Given the description of an element on the screen output the (x, y) to click on. 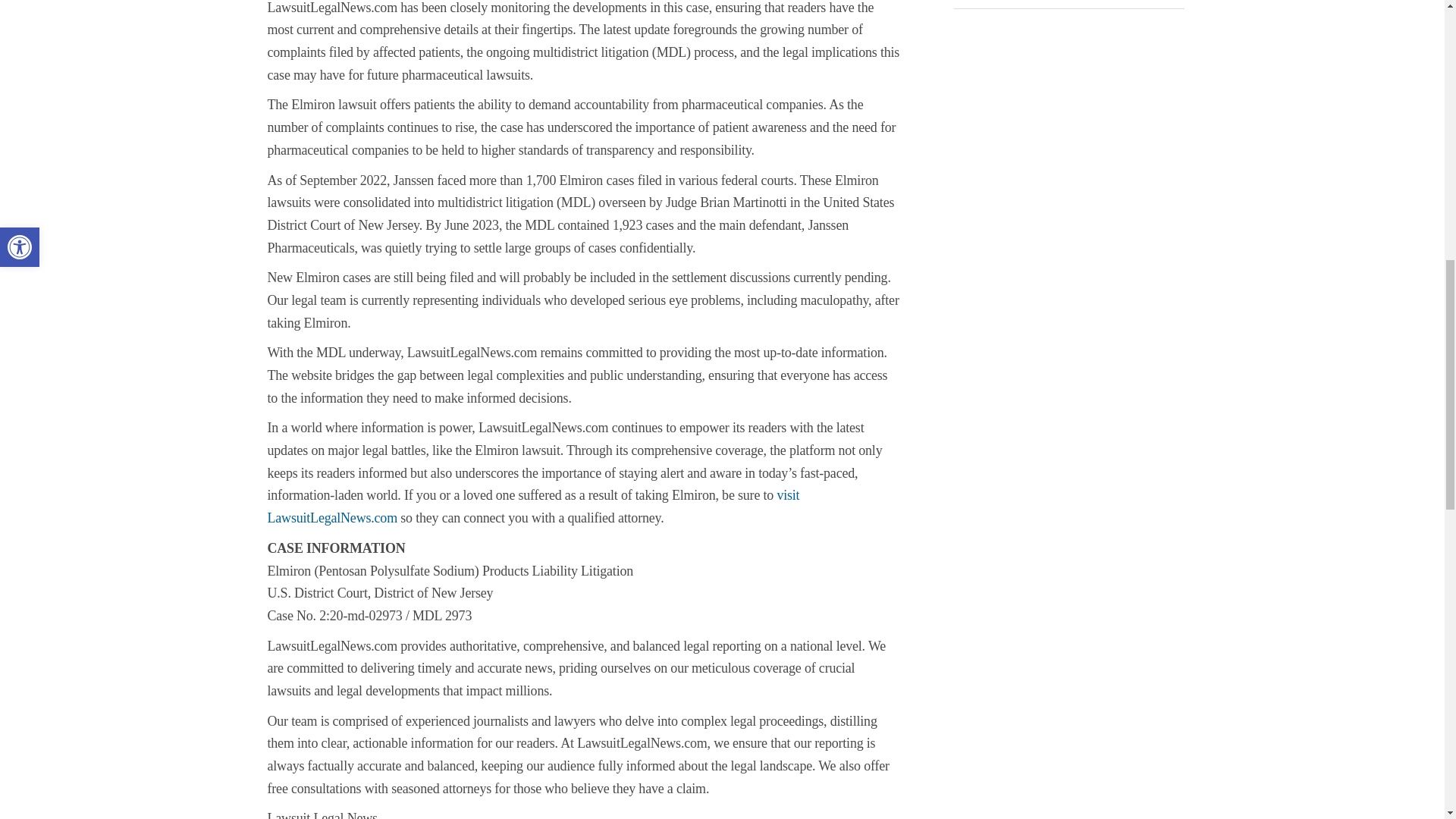
visit LawsuitLegalNews.com (532, 506)
